Given the description of an element on the screen output the (x, y) to click on. 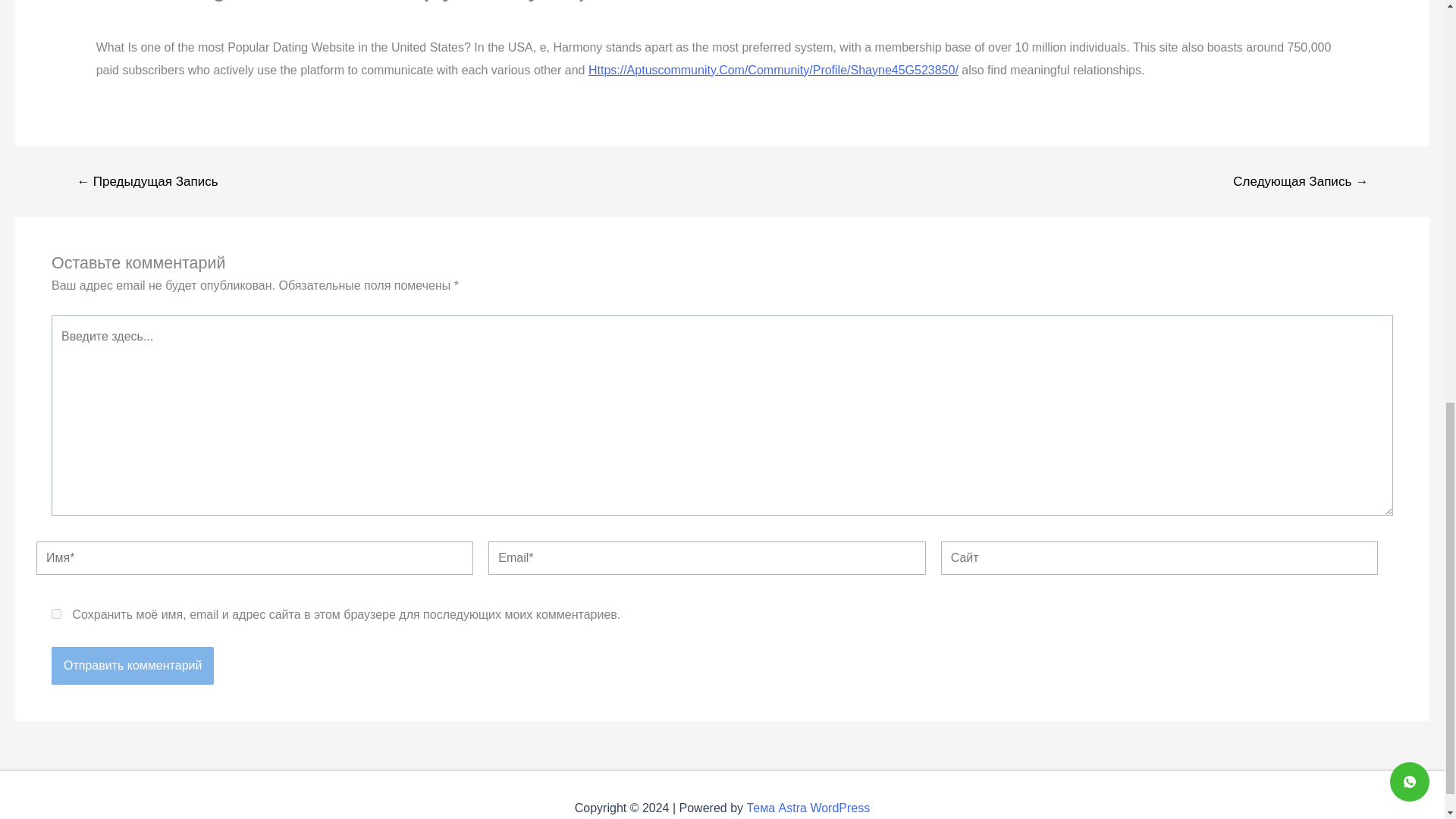
yes (55, 614)
